Given the description of an element on the screen output the (x, y) to click on. 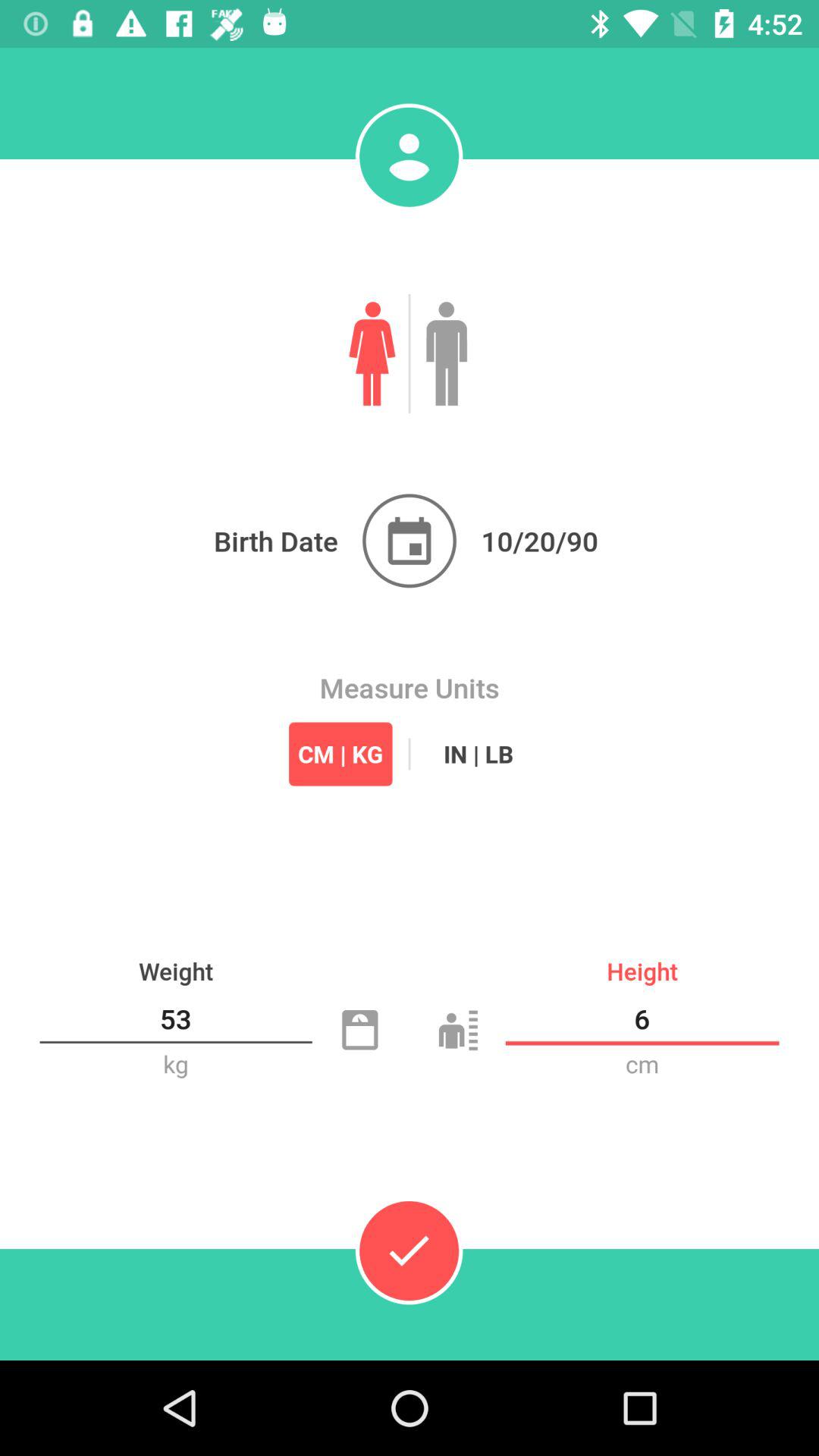
confirm the information (408, 1250)
